Given the description of an element on the screen output the (x, y) to click on. 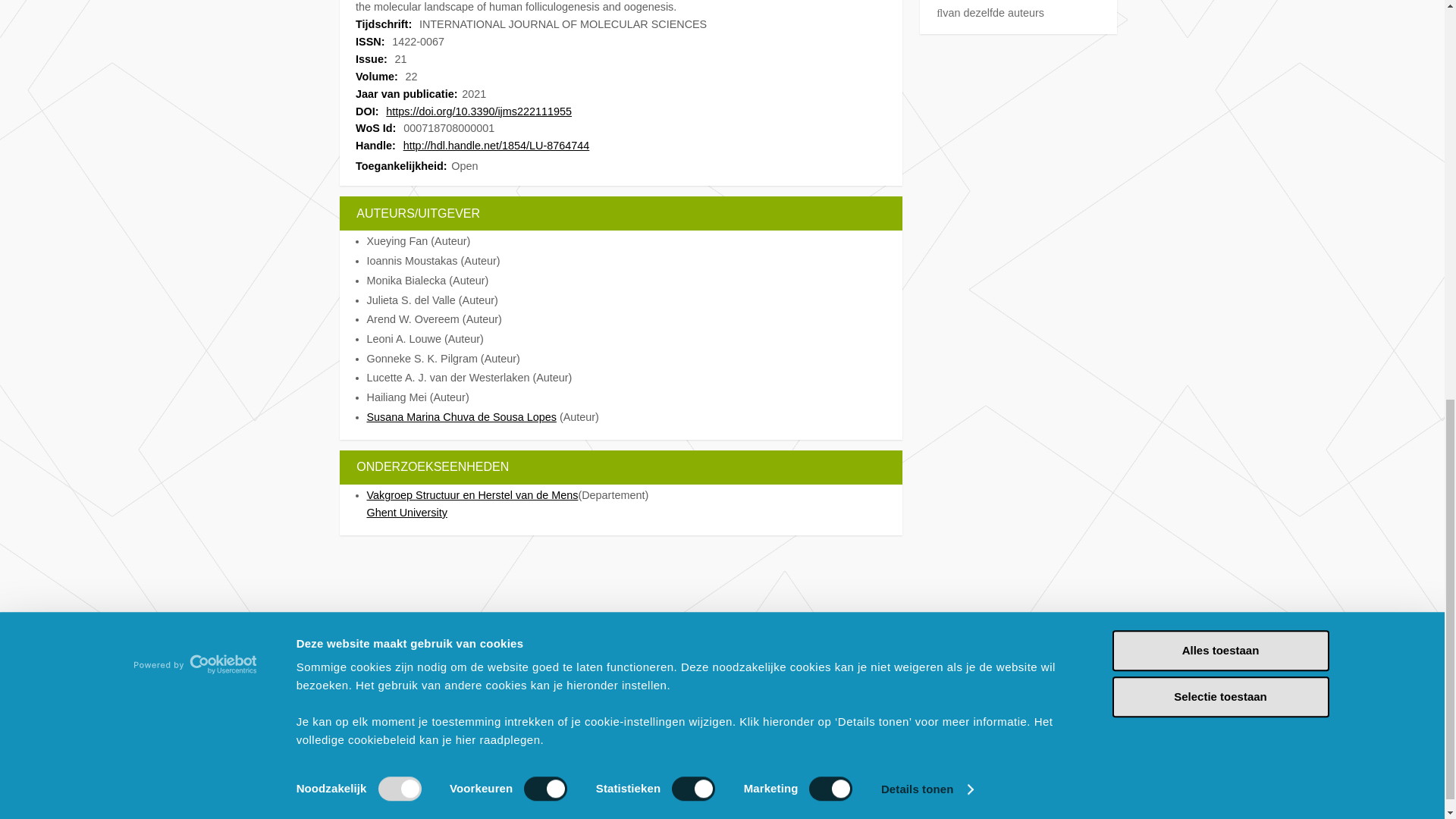
Details tonen (926, 1)
Bekijk gegevens over onderzoek in Vlaanderen. (453, 742)
Leer meer over de FRIS dataleveranciers. (453, 714)
